Given the description of an element on the screen output the (x, y) to click on. 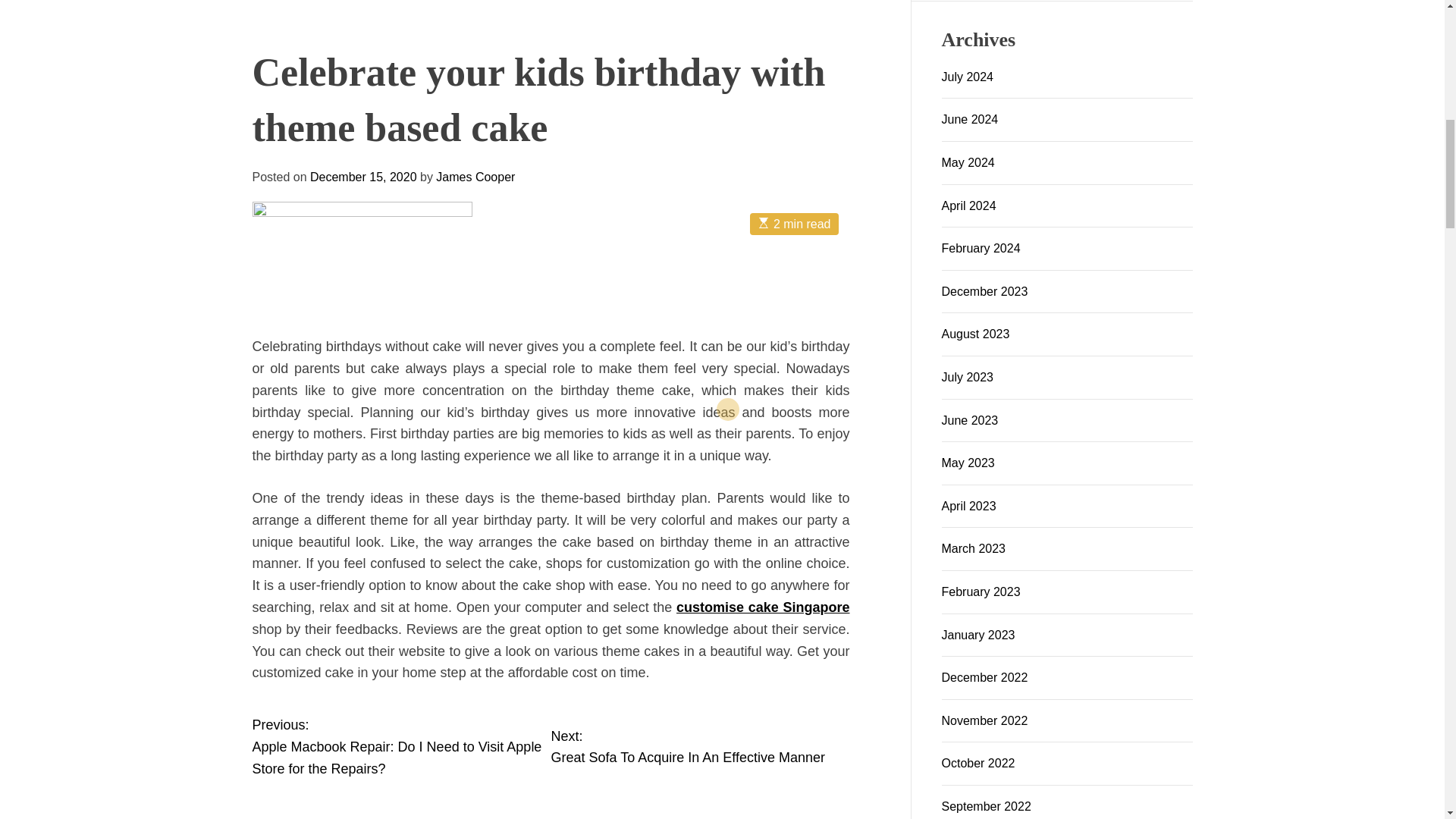
Tips to have best experience in theatres (754, 488)
James Cooper (601, 266)
Grab the reliable site for online movies (550, 572)
James Cooper (601, 266)
James Cooper (325, 255)
